Given the description of an element on the screen output the (x, y) to click on. 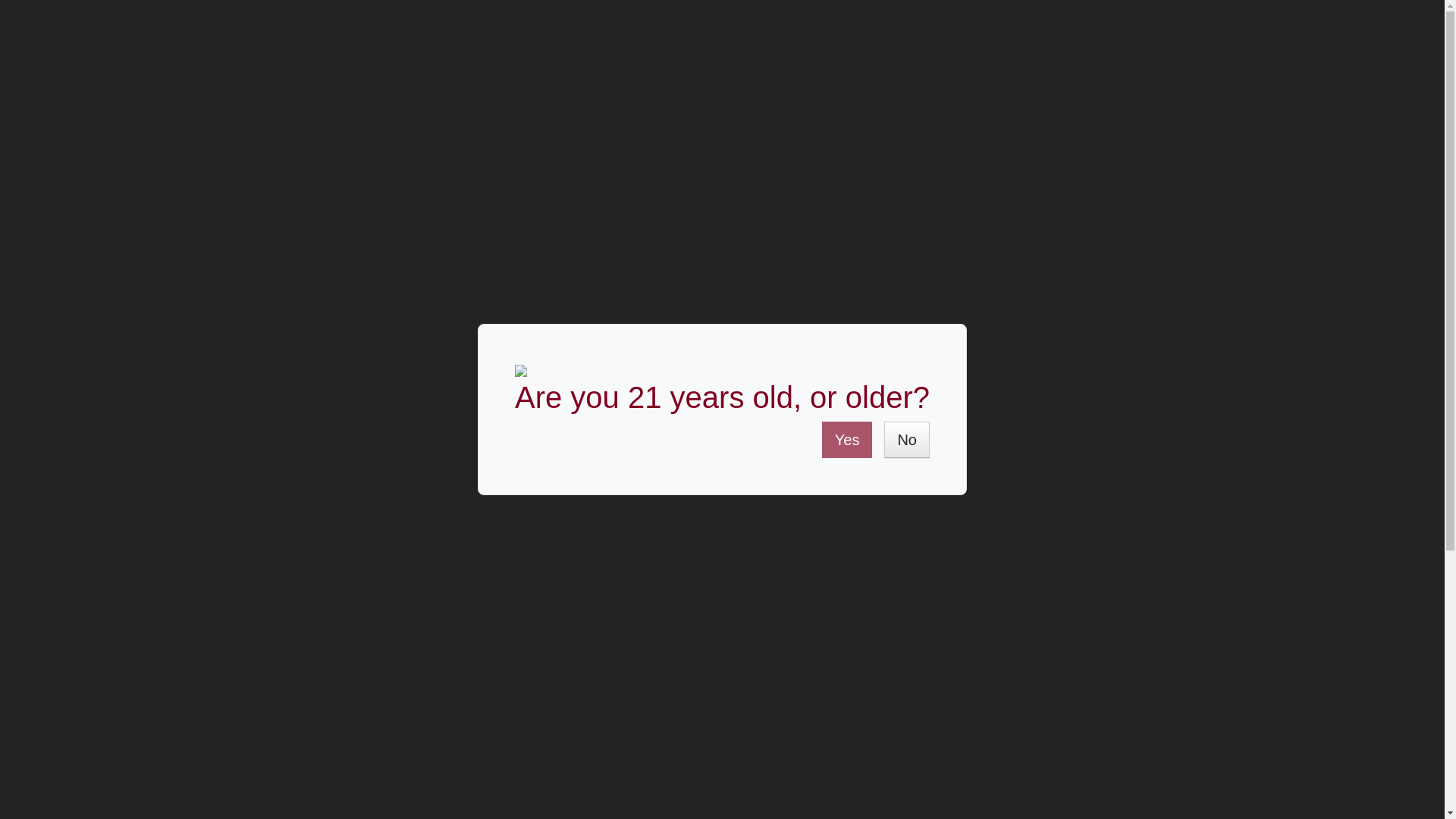
WINE (156, 130)
508-347-5133 EXT 117 (1266, 15)
